Given the description of an element on the screen output the (x, y) to click on. 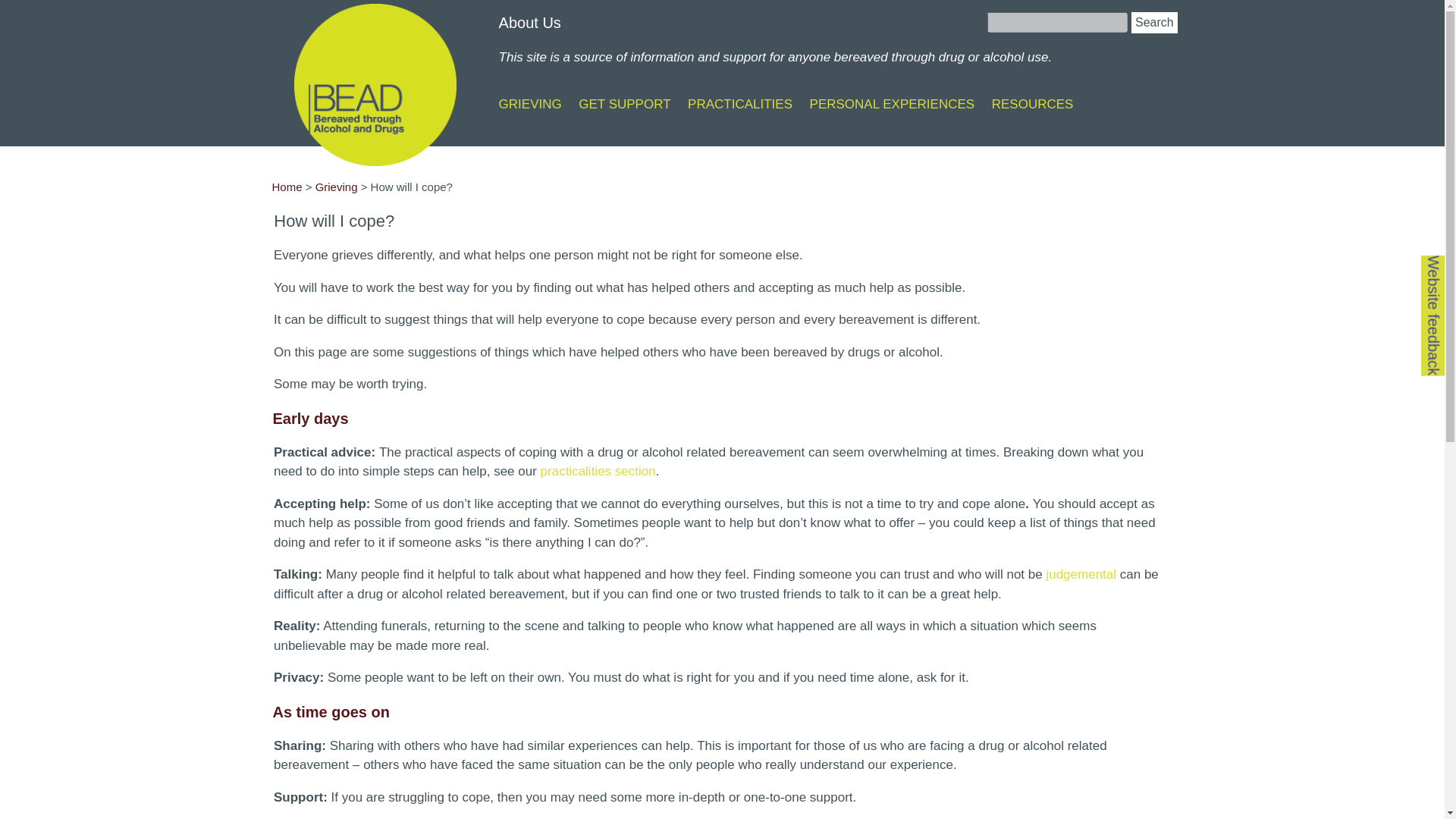
judgemental (1080, 574)
PERSONAL EXPERIENCES (892, 103)
practicalities section (598, 471)
About Us (529, 22)
Personal Experiences (892, 103)
GRIEVING (530, 103)
Get support (623, 103)
Enter the terms you wish to search for. (1056, 22)
PRACTICALITIES (739, 103)
Home (375, 79)
GET SUPPORT (623, 103)
Grieving (336, 186)
Search (1153, 22)
Practical help (739, 103)
Home (285, 186)
